Given the description of an element on the screen output the (x, y) to click on. 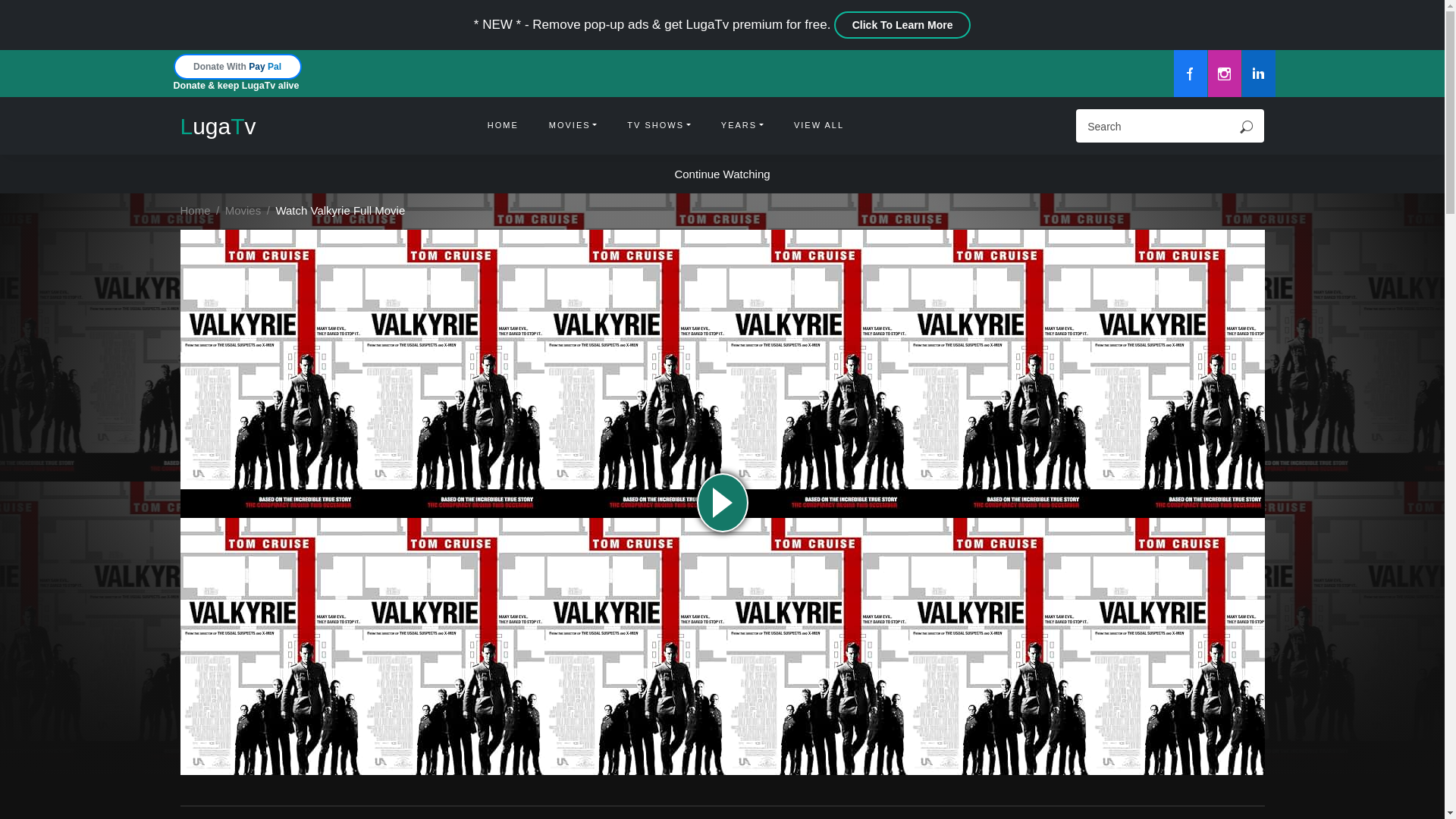
HOME (502, 125)
. (1245, 126)
MOVIES (573, 125)
TV SHOWS (657, 125)
LugaTv (218, 125)
Movies (243, 210)
Donate With Pay Pal (237, 66)
Click To Learn More (902, 24)
